Given the description of an element on the screen output the (x, y) to click on. 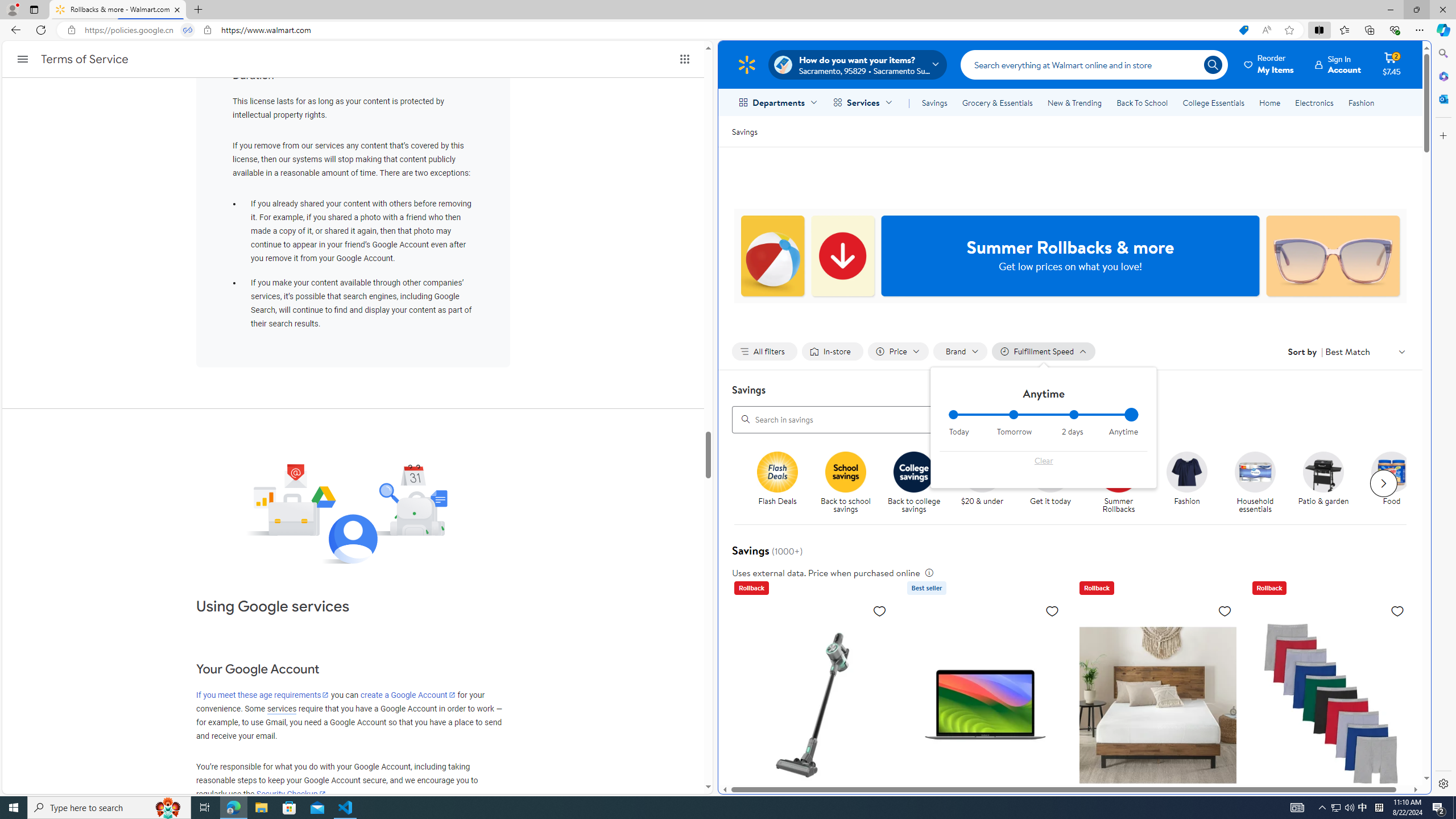
Fashion (1191, 483)
Back To School (1141, 102)
Get it today (1050, 471)
Savings (933, 102)
